Given the description of an element on the screen output the (x, y) to click on. 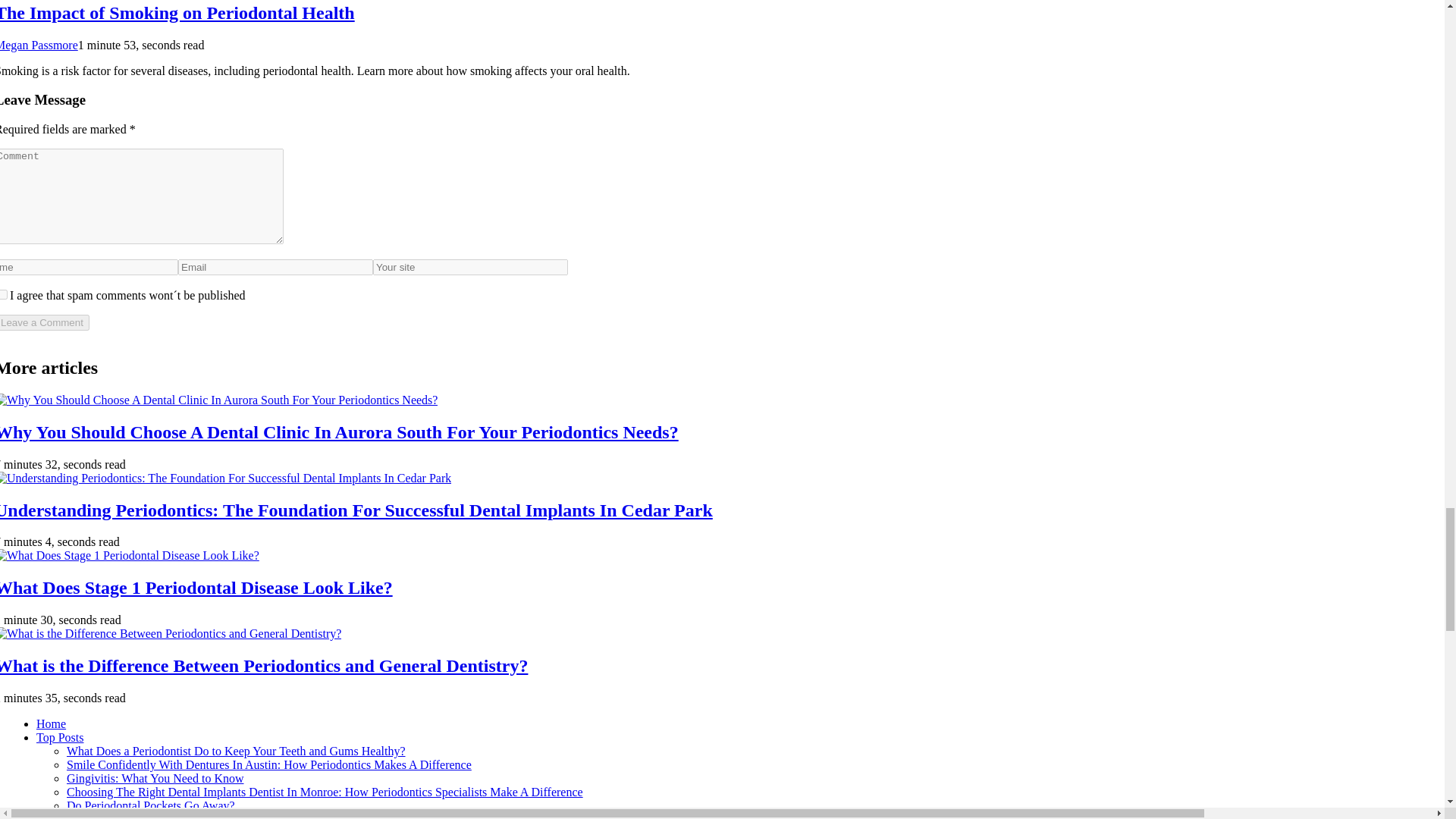
What Does Stage 1 Periodontal Disease Look Like? (196, 587)
Leave a Comment (44, 322)
Do Periodontal Pockets Go Away? (150, 805)
Leave a Comment (44, 322)
Gingivitis: What You Need to Know (154, 778)
Posts by Megan Passmore (39, 44)
Megan Passmore (39, 44)
Home (50, 723)
Top Posts (59, 737)
What are the Symptoms of Stage 2 Periodontitis? (185, 816)
